Given the description of an element on the screen output the (x, y) to click on. 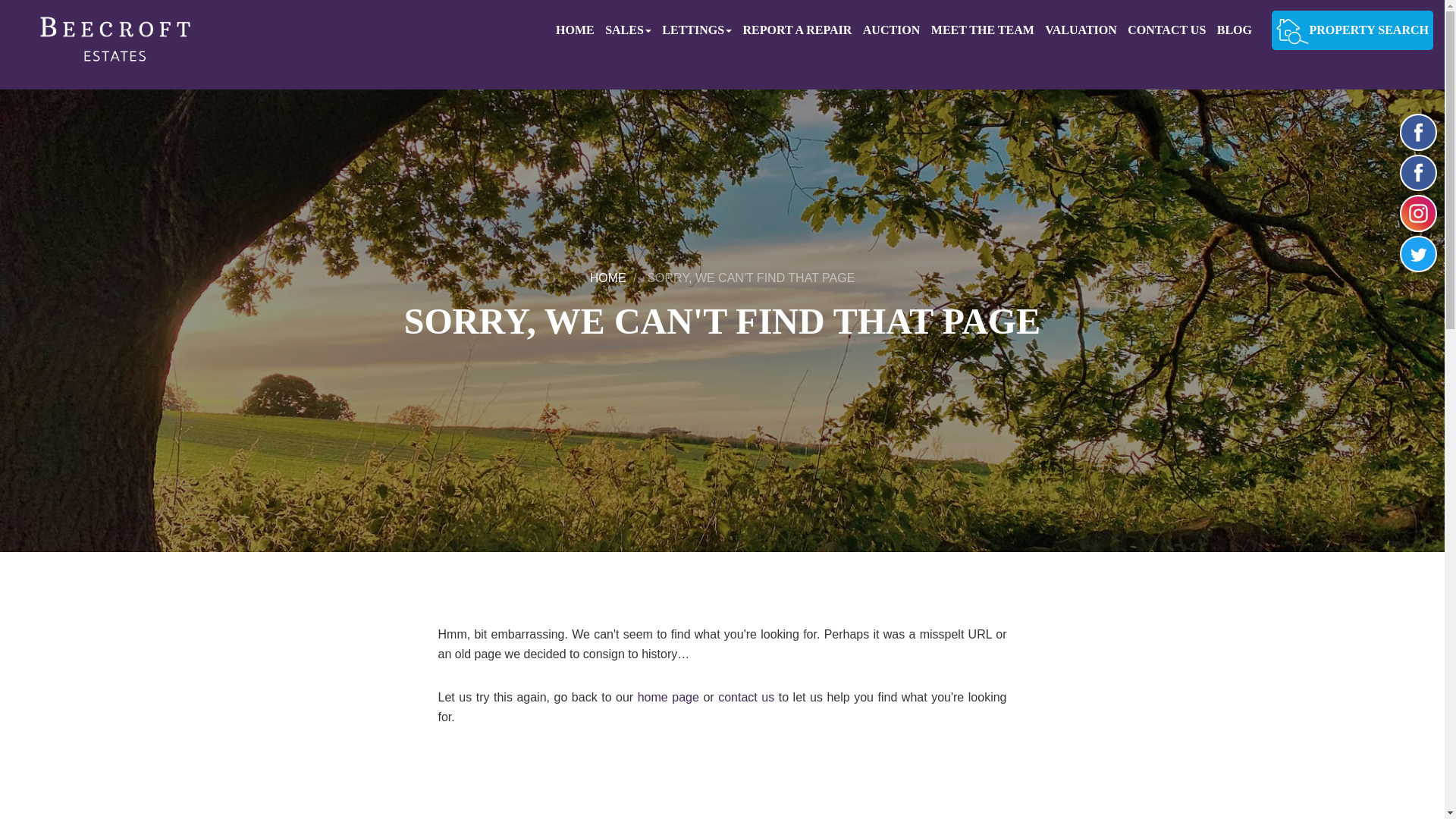
PROPERTY SEARCH (1351, 29)
Beecroft Estates (111, 44)
REPORT A REPAIR (801, 29)
MEET THE TEAM (986, 29)
HOME (579, 29)
SALES (632, 29)
AUCTION (895, 29)
LETTINGS (700, 29)
VALUATION (1084, 29)
SORRY, WE CAN'T FIND THAT PAGE (750, 277)
